Given the description of an element on the screen output the (x, y) to click on. 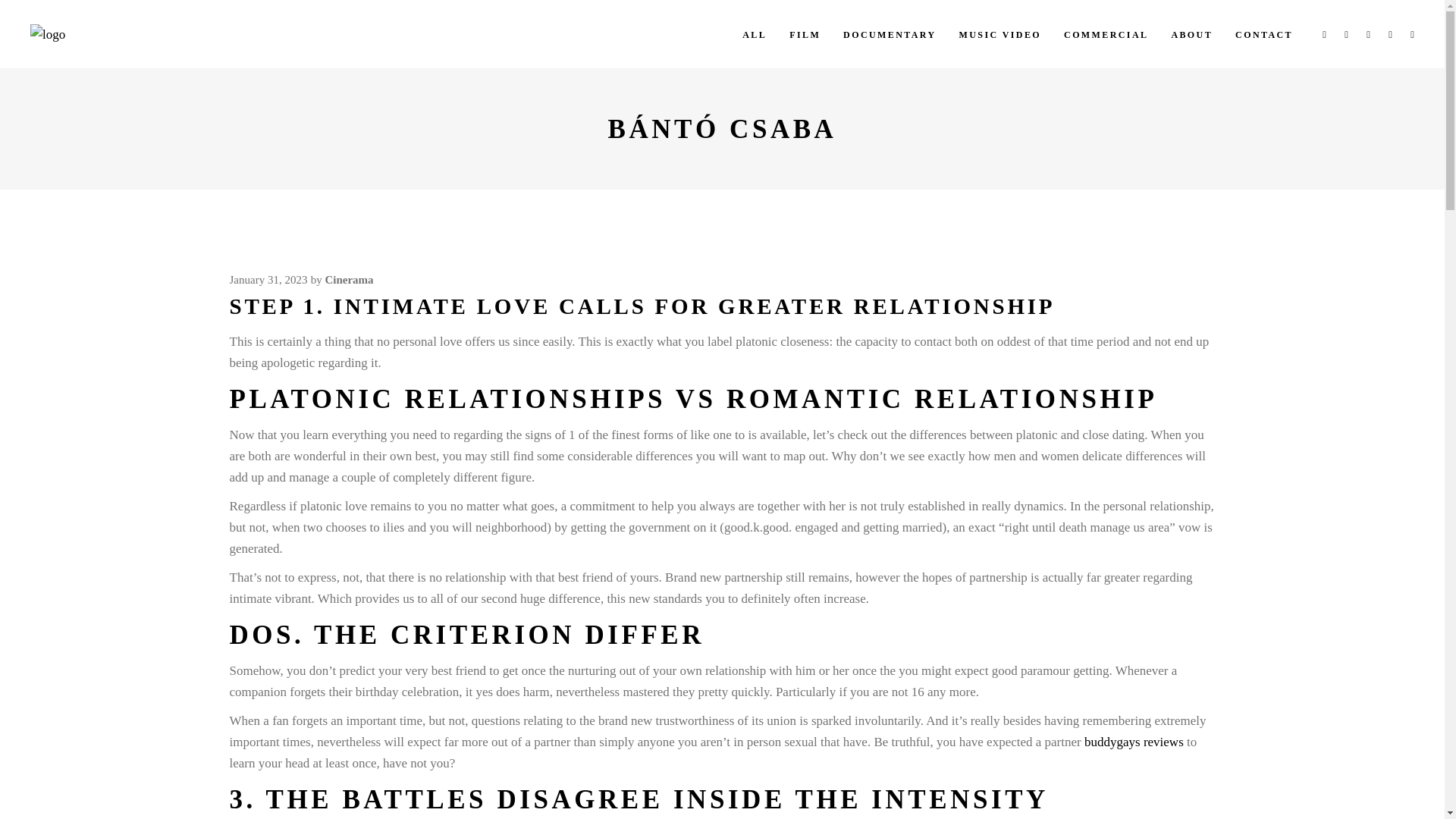
January 31, 2023 (267, 279)
CONTACT (1264, 33)
Cinerama (348, 279)
COMMERCIAL (1105, 33)
MUSIC VIDEO (999, 33)
DOCUMENTARY (889, 33)
buddygays reviews (1133, 741)
ABOUT (1191, 33)
